Given the description of an element on the screen output the (x, y) to click on. 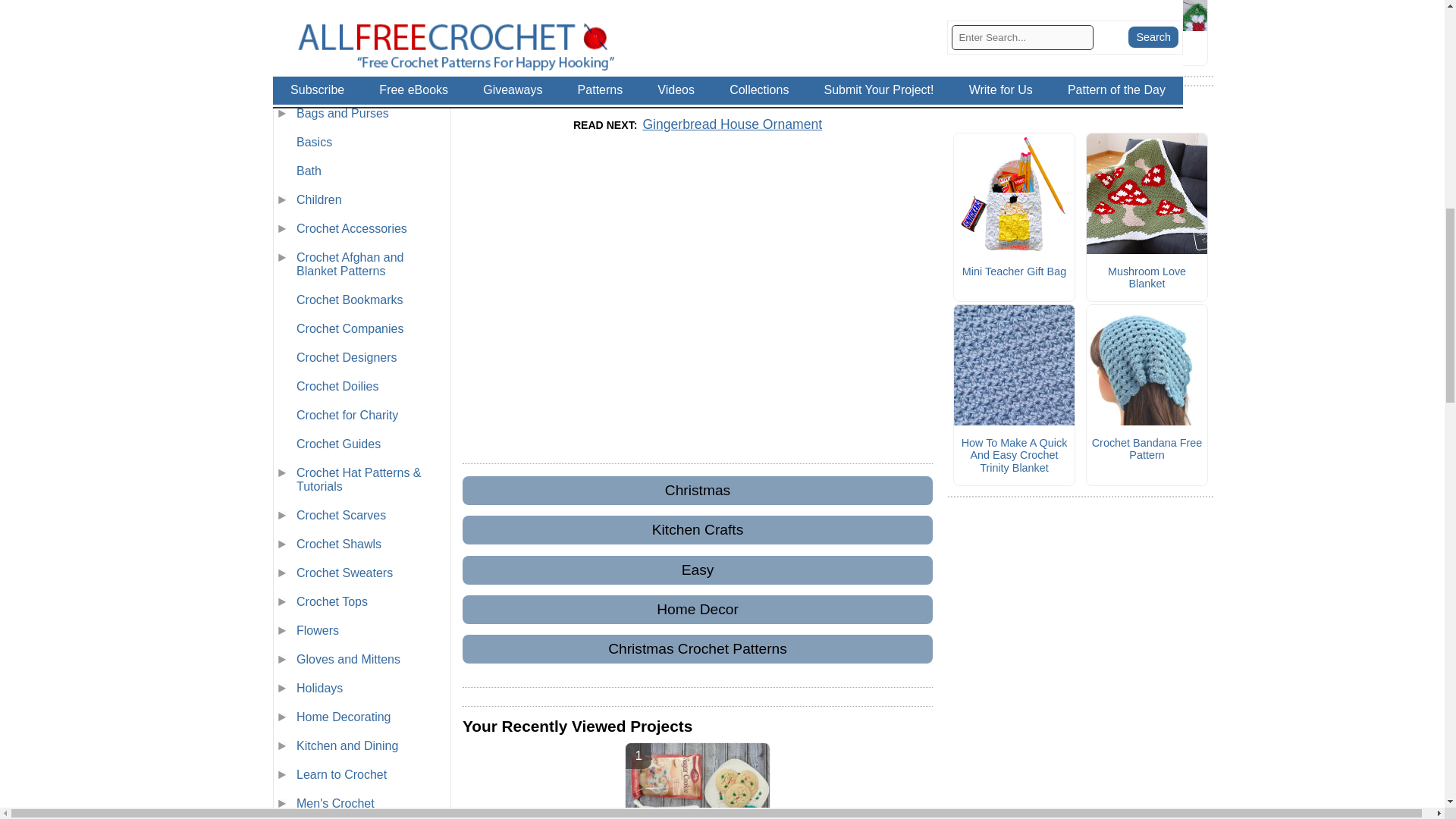
Insticator Content Engagement Unit (698, 300)
